Given the description of an element on the screen output the (x, y) to click on. 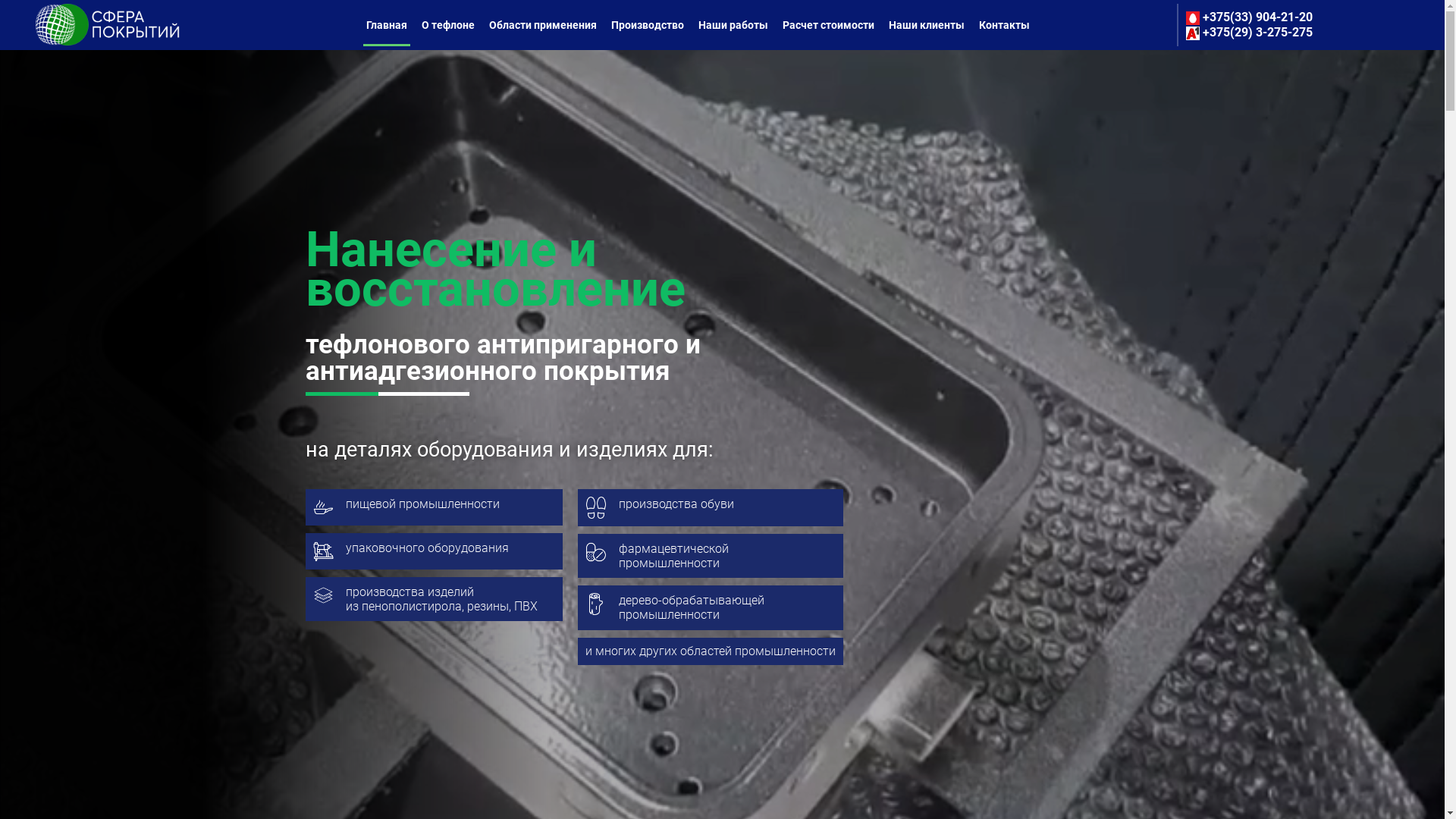
+375(33) 904-21-20 Element type: text (1249, 16)
+375(29) 3-275-275 Element type: text (1249, 32)
